Given the description of an element on the screen output the (x, y) to click on. 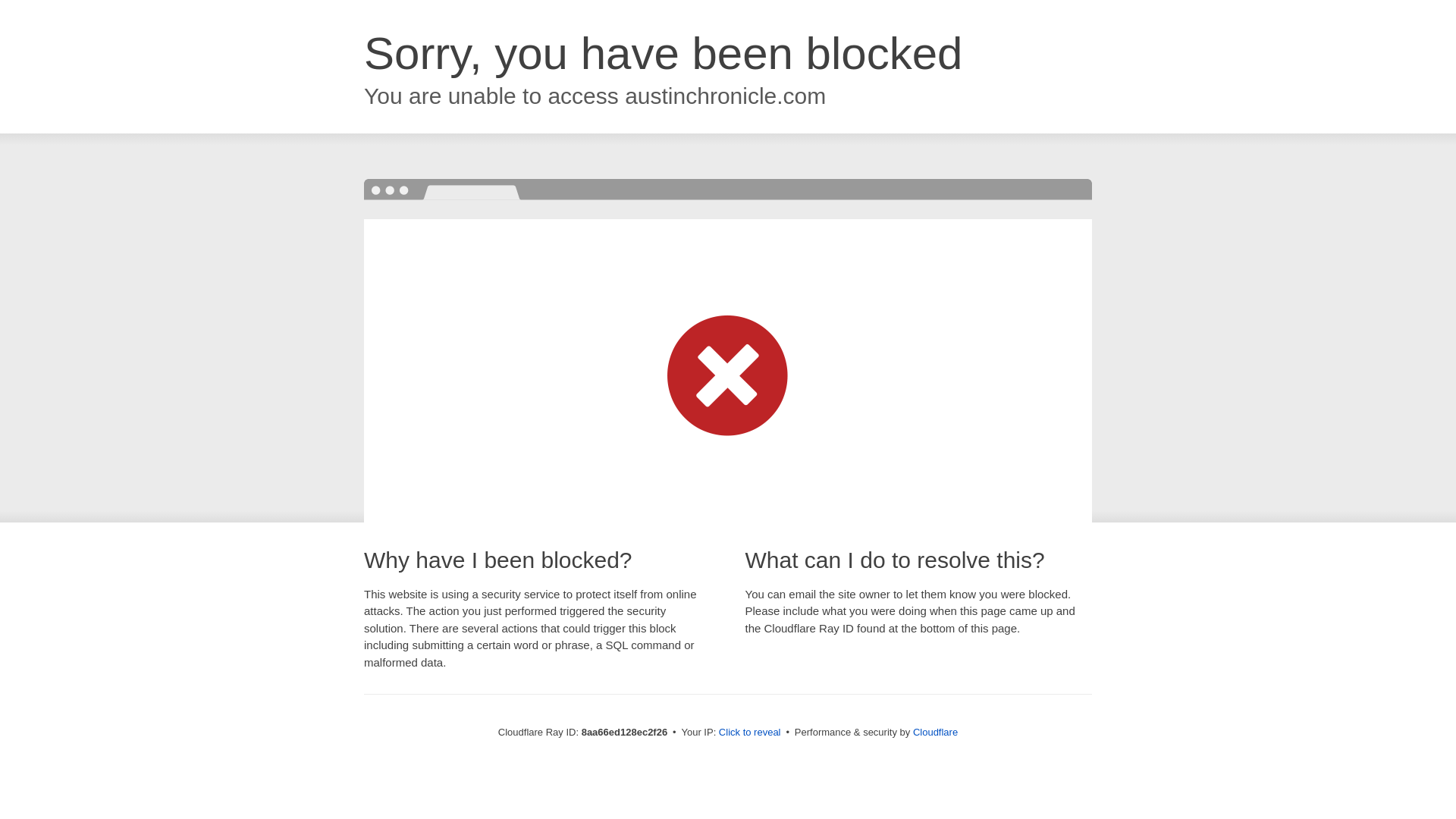
Click to reveal (749, 732)
Cloudflare (935, 731)
